Given the description of an element on the screen output the (x, y) to click on. 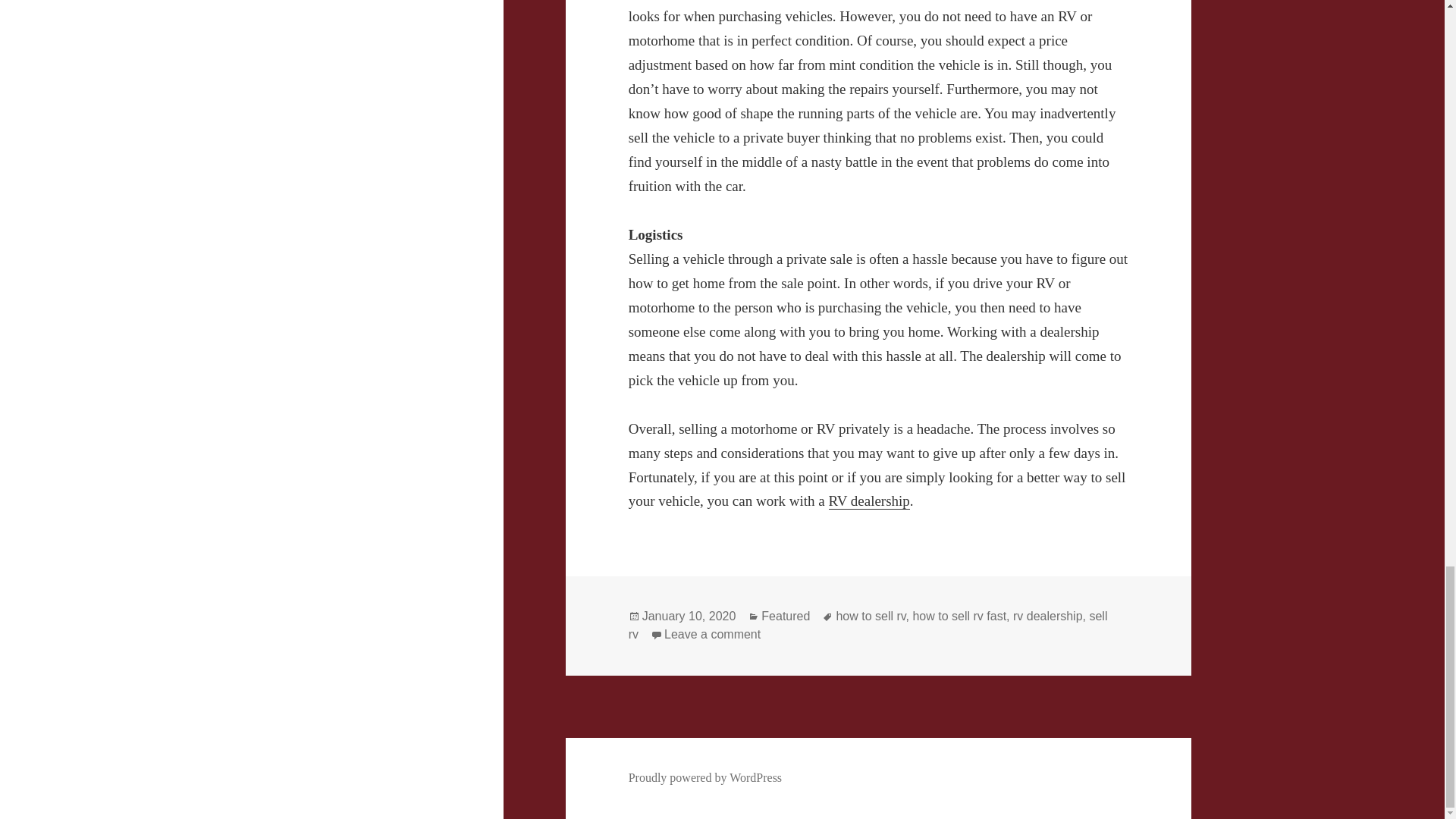
January 10, 2020 (689, 616)
Featured (785, 616)
rv dealership (1048, 616)
how to sell rv (870, 616)
Proudly powered by WordPress (704, 777)
RV dealership (868, 501)
how to sell rv fast (959, 616)
sell rv (868, 625)
